Given the description of an element on the screen output the (x, y) to click on. 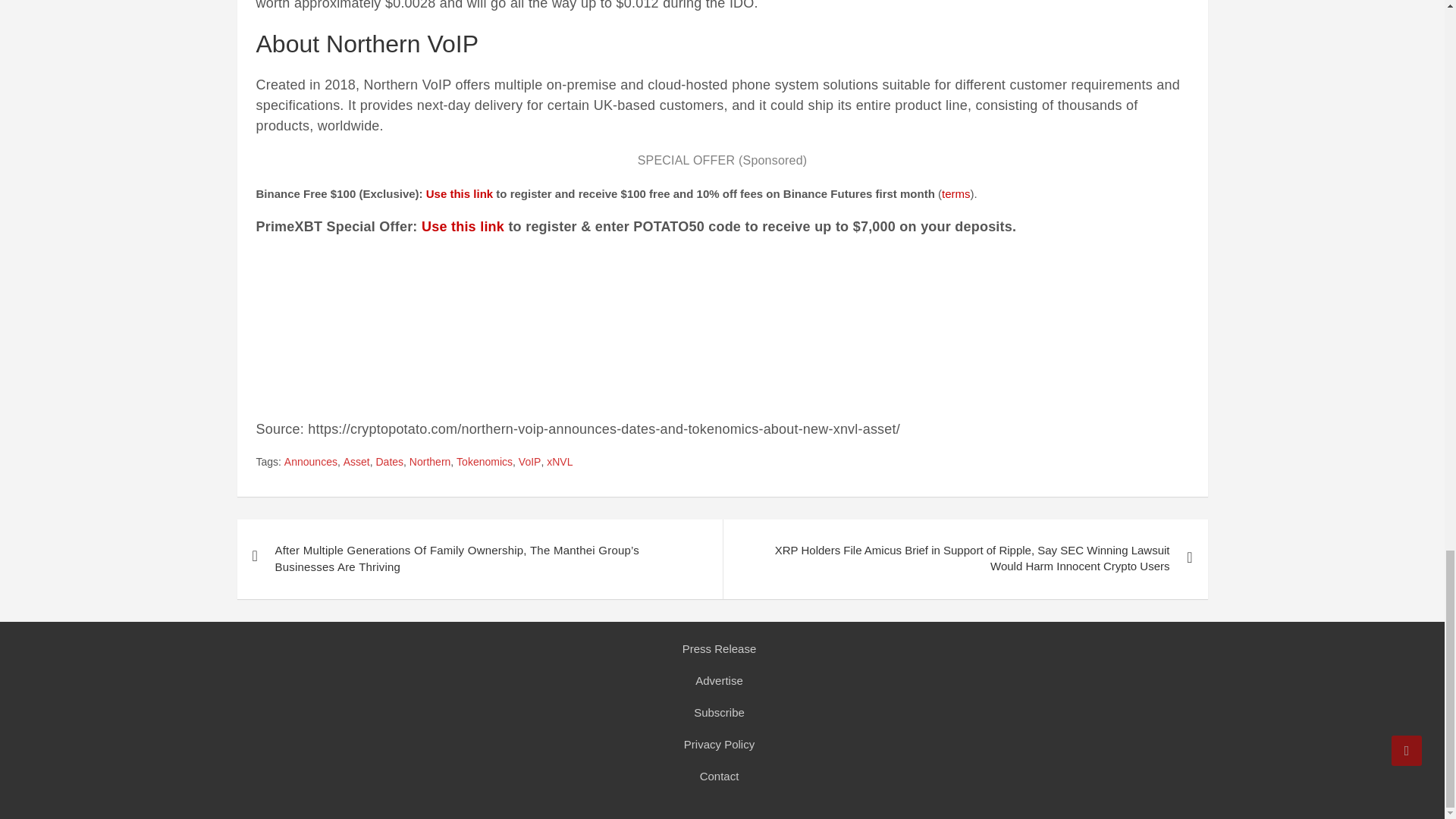
Announces (310, 462)
Use this link (459, 193)
Use this link (462, 226)
Dates (389, 462)
Northern (429, 462)
xNVL (559, 462)
terms (956, 193)
Asset (356, 462)
Tokenomics (484, 462)
VoIP (529, 462)
